Given the description of an element on the screen output the (x, y) to click on. 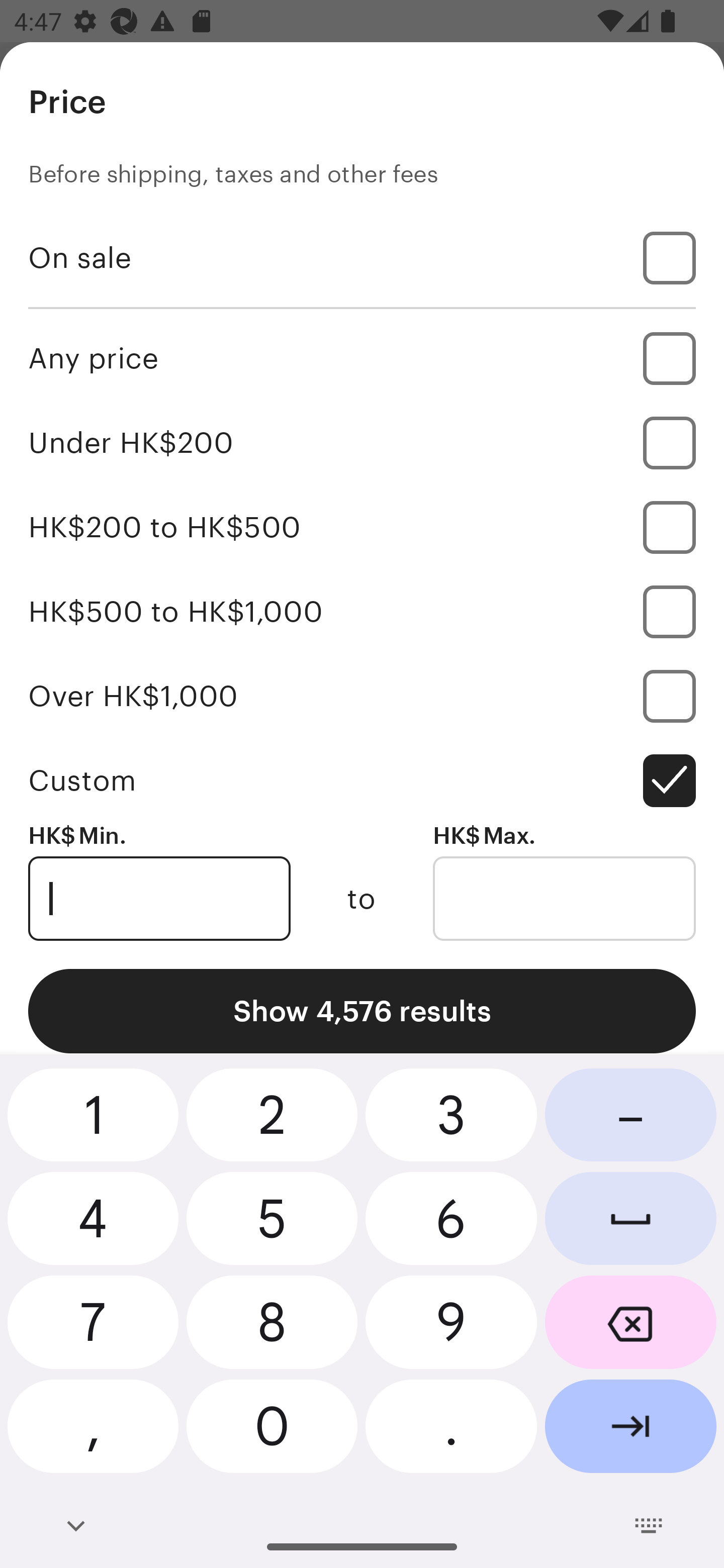
On sale (362, 257)
Any price (362, 357)
Under HK$200 (362, 441)
HK$200 to HK$500 (362, 526)
HK$500 to HK$1,000 (362, 611)
Over HK$1,000 (362, 695)
Custom (362, 780)
Show 4,576 results (361, 1011)
